Given the description of an element on the screen output the (x, y) to click on. 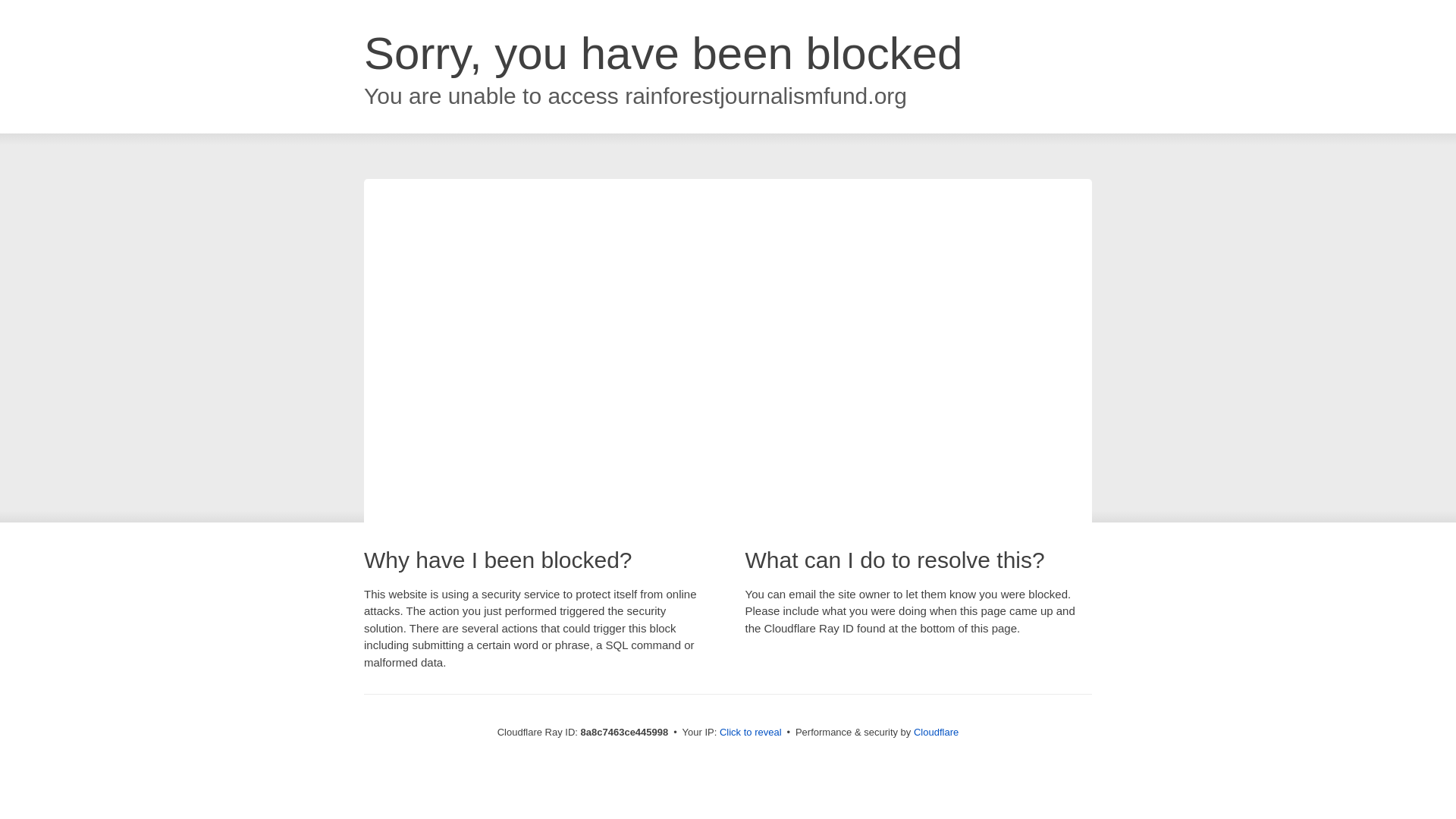
Click to reveal (750, 732)
Cloudflare (936, 731)
